Given the description of an element on the screen output the (x, y) to click on. 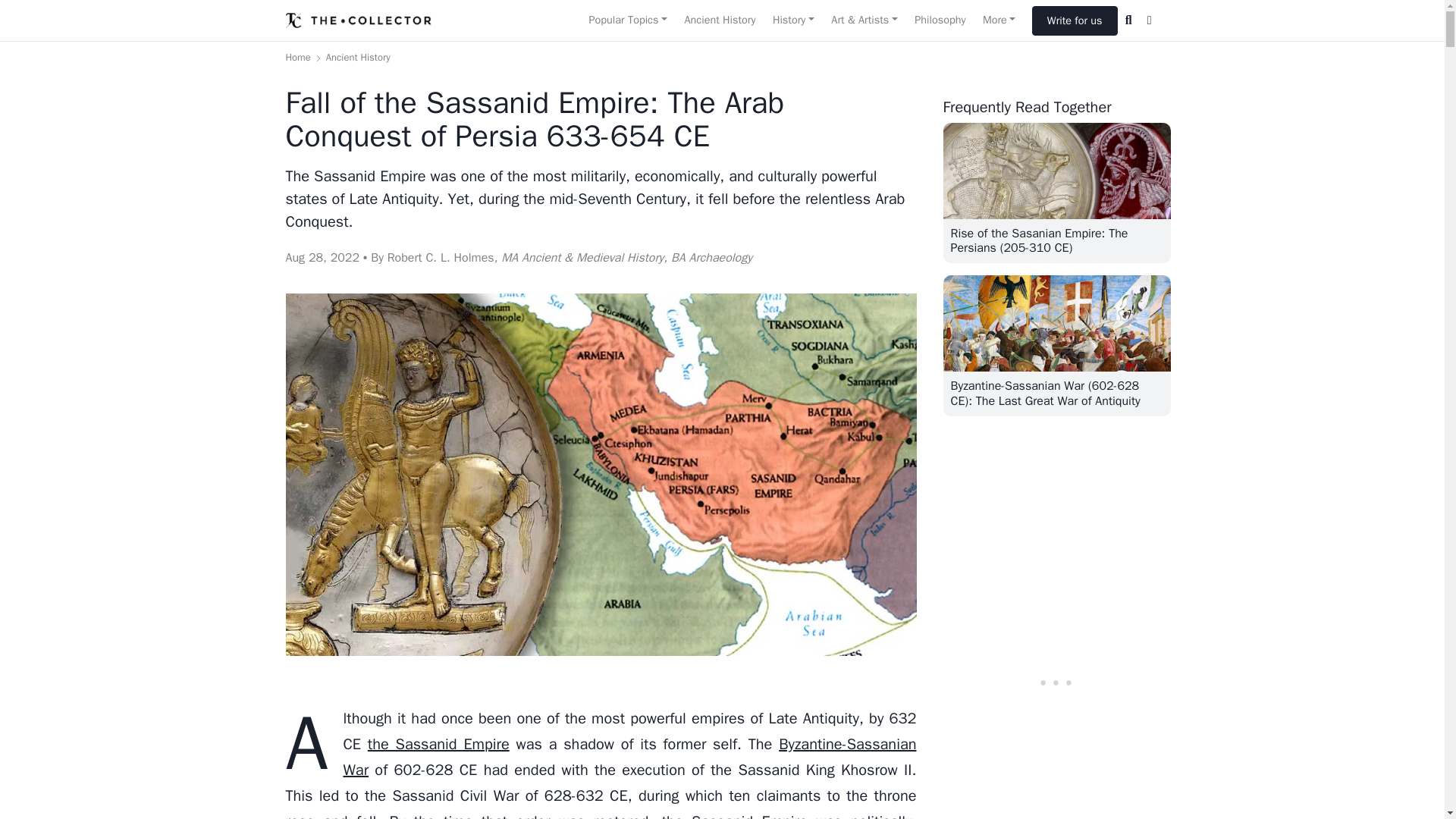
Ancient History (718, 20)
More (999, 20)
Popular Topics (627, 20)
Philosophy (939, 20)
Write for us (1075, 20)
History (793, 20)
